Given the description of an element on the screen output the (x, y) to click on. 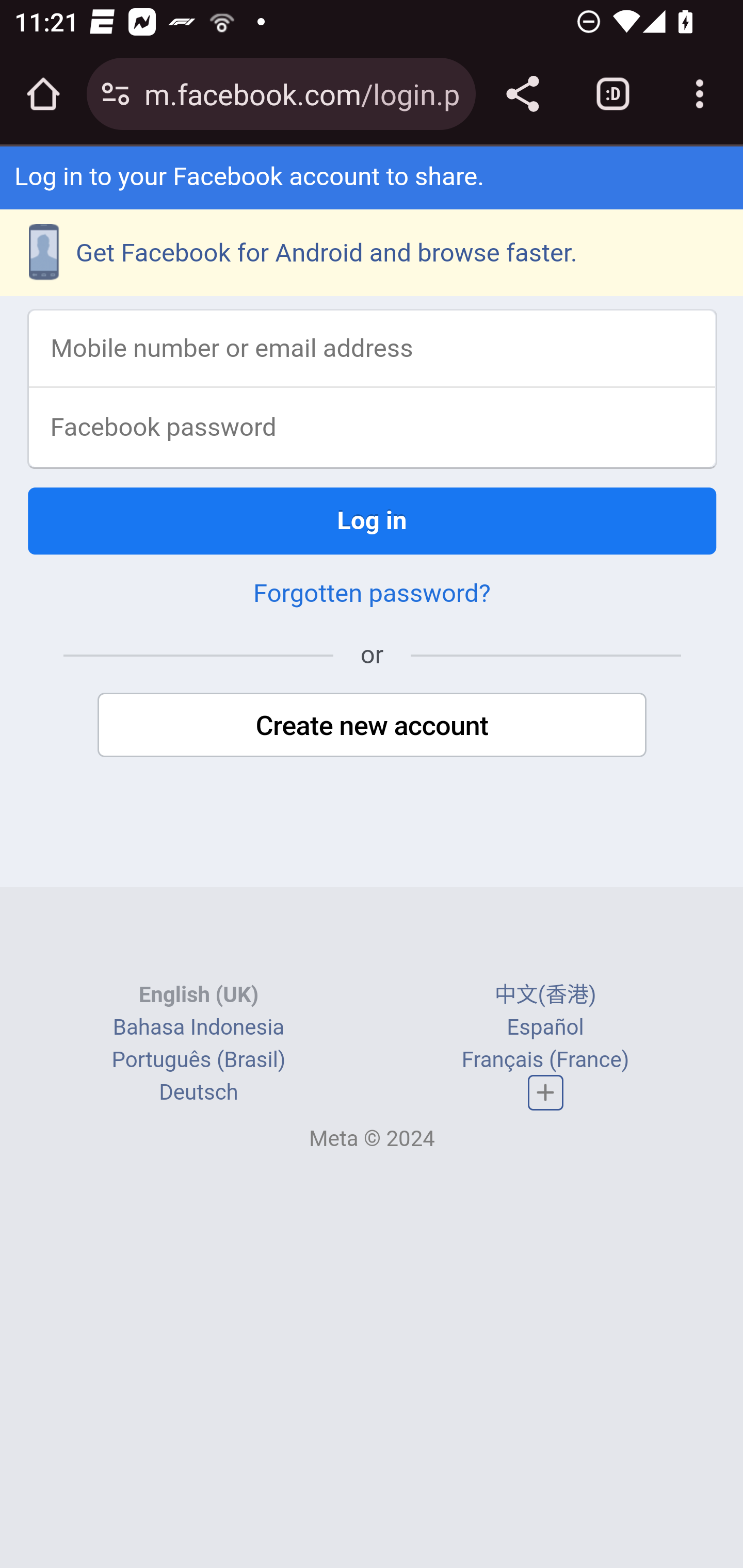
Open the home page (43, 93)
Connection is secure (115, 93)
Share (522, 93)
Switch or close tabs (612, 93)
Customize and control Google Chrome (699, 93)
Get Facebook for Android and browse faster. (371, 253)
Log in (372, 520)
Forgotten password? (371, 592)
Create new account (372, 724)
中文(香港) (544, 994)
Bahasa Indonesia (198, 1027)
Español (545, 1027)
Português (Brasil) (197, 1060)
Français (France) (544, 1060)
Complete list of languages (545, 1092)
Deutsch (198, 1092)
